Given the description of an element on the screen output the (x, y) to click on. 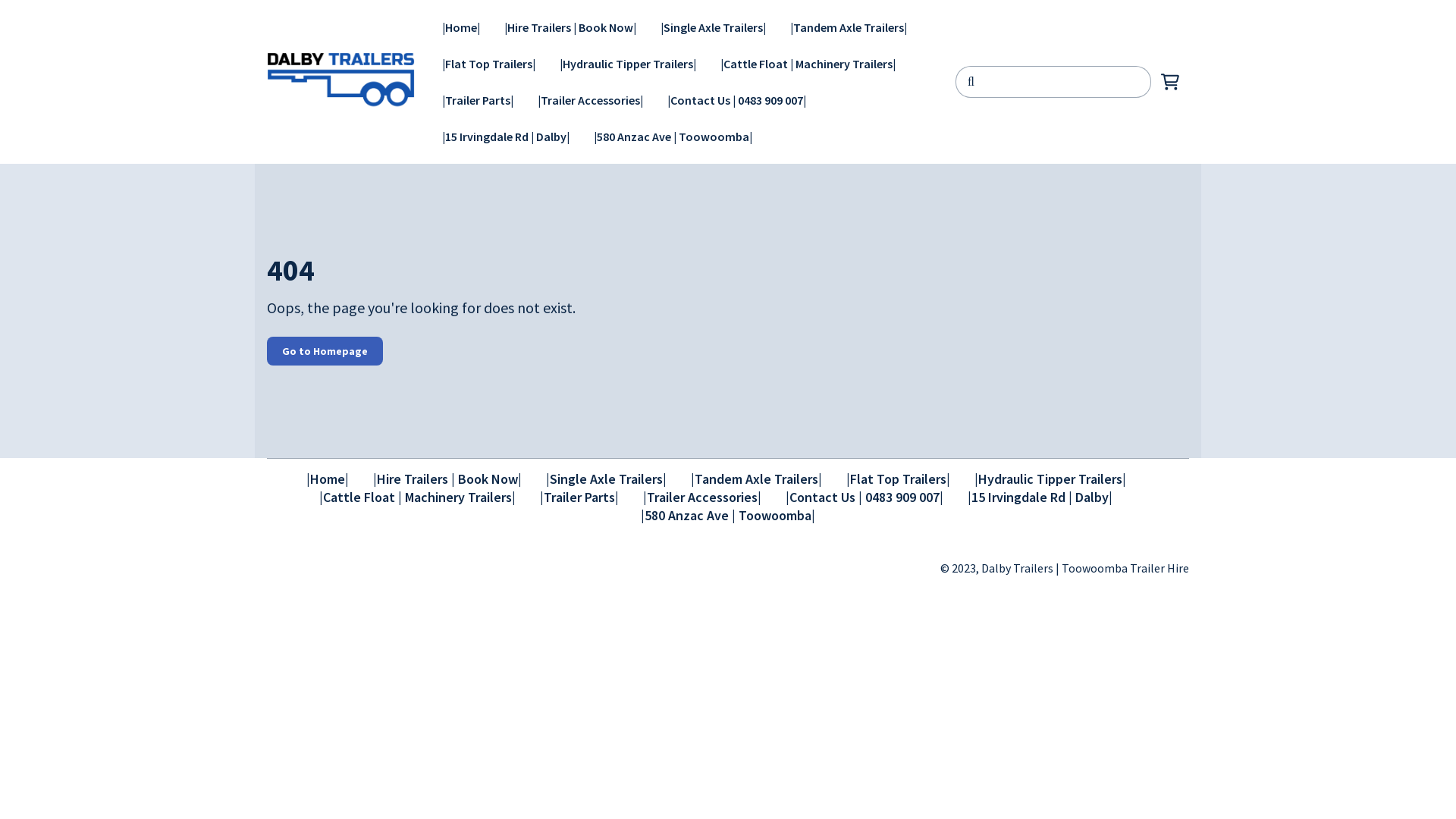
|Flat Top Trailers| Element type: text (488, 63)
|Hire Trailers | Book Now| Element type: text (447, 479)
|Hydraulic Tipper Trailers| Element type: text (627, 63)
|Contact Us | 0483 909 007| Element type: text (864, 497)
|Home| Element type: text (327, 479)
|Single Axle Trailers| Element type: text (606, 479)
|Hire Trailers | Book Now| Element type: text (570, 27)
|15 Irvingdale Rd | Dalby| Element type: text (1039, 497)
|Trailer Parts| Element type: text (578, 497)
|Single Axle Trailers| Element type: text (713, 27)
|15 Irvingdale Rd | Dalby| Element type: text (505, 136)
|Contact Us | 0483 909 007| Element type: text (736, 99)
|Tandem Axle Trailers| Element type: text (848, 27)
|Cattle Float | Machinery Trailers| Element type: text (807, 63)
|580 Anzac Ave | Toowoomba| Element type: text (672, 136)
Go to Homepage Element type: text (324, 350)
|Home| Element type: text (460, 27)
|Trailer Accessories| Element type: text (702, 497)
|Trailer Accessories| Element type: text (590, 99)
|580 Anzac Ave | Toowoomba| Element type: text (727, 515)
|Hydraulic Tipper Trailers| Element type: text (1049, 479)
|Trailer Parts| Element type: text (477, 99)
|Tandem Axle Trailers| Element type: text (755, 479)
|Flat Top Trailers| Element type: text (898, 479)
|Cattle Float | Machinery Trailers| Element type: text (417, 497)
